Given the description of an element on the screen output the (x, y) to click on. 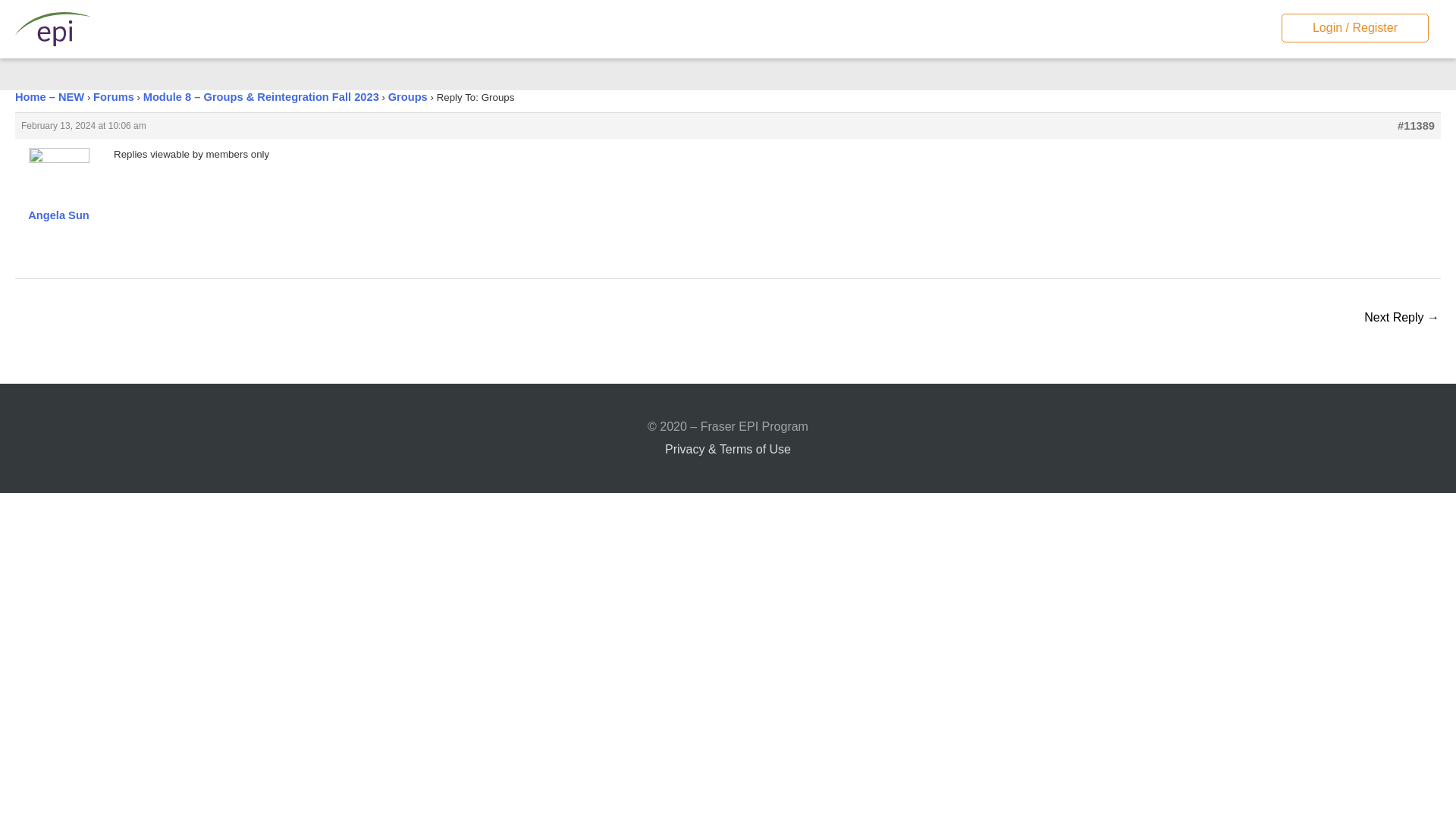
Forums (113, 96)
Groups (408, 96)
Angela Sun (57, 194)
View Angela Sun's profile (57, 194)
